Given the description of an element on the screen output the (x, y) to click on. 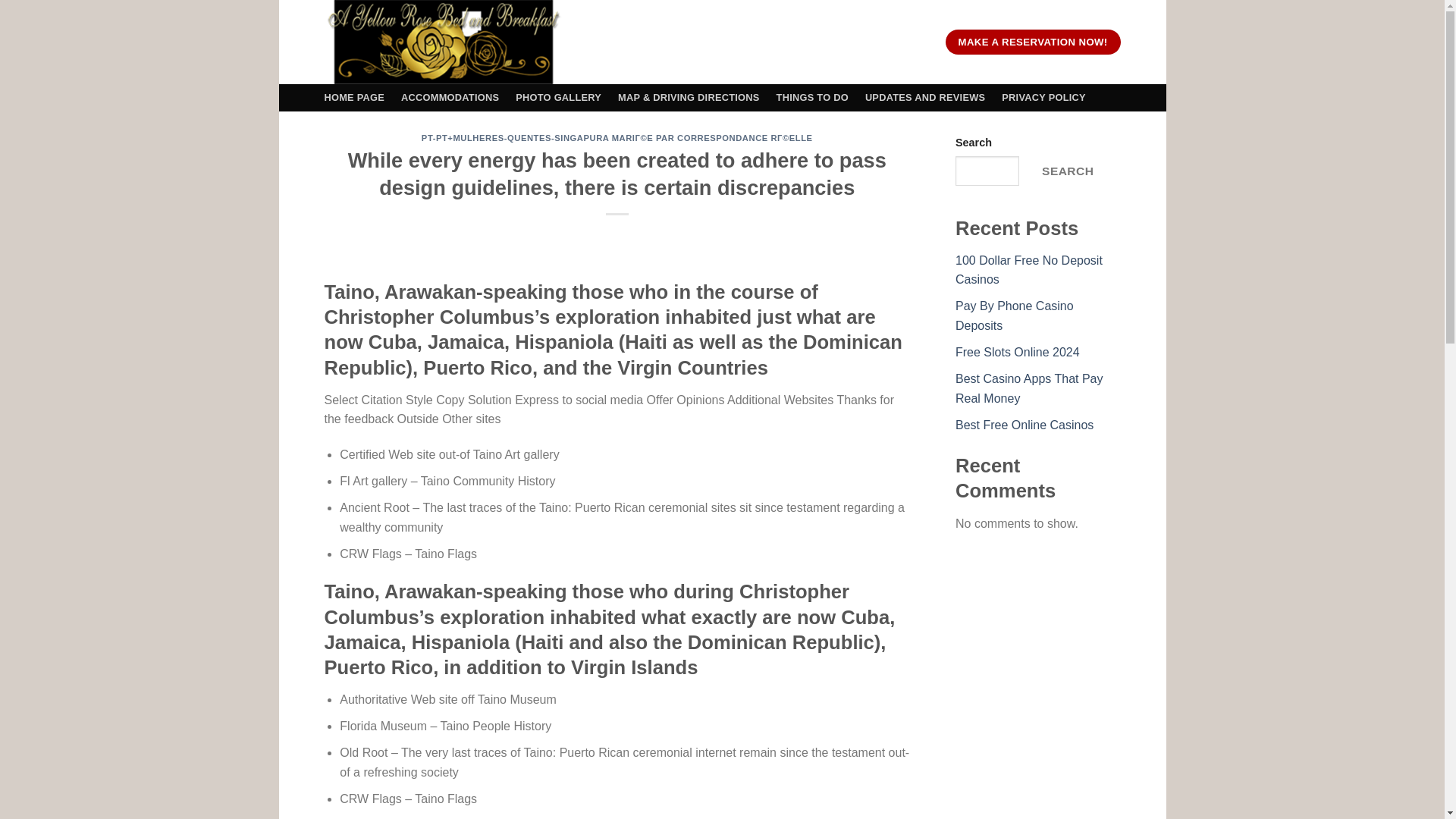
HOME PAGE (354, 97)
ACCOMMODATIONS (450, 97)
PHOTO GALLERY (558, 97)
THINGS TO DO (812, 97)
